Given the description of an element on the screen output the (x, y) to click on. 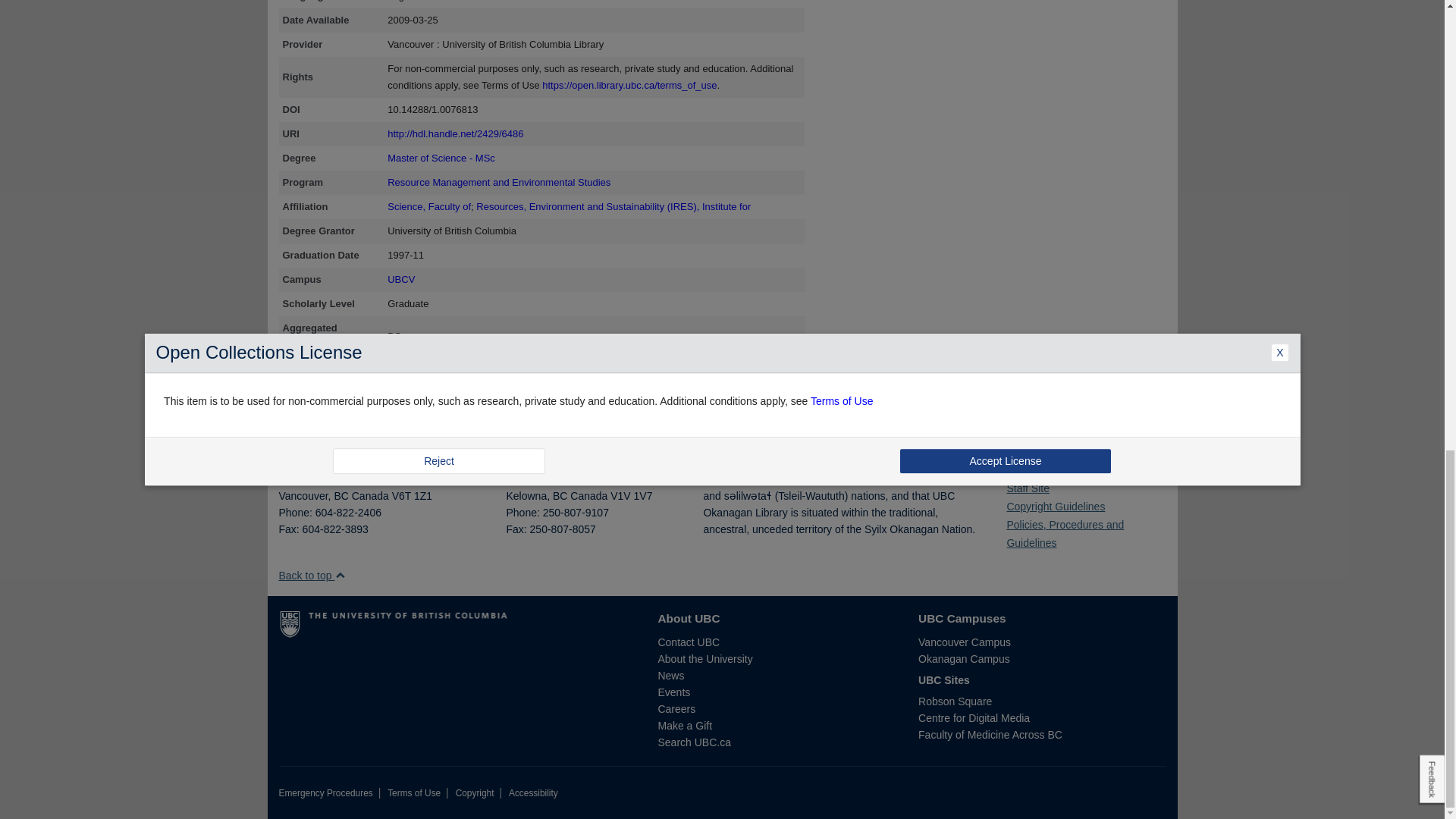
Twitter icon (1021, 466)
British Columbia (340, 495)
Youtube icon (1041, 466)
Facebook icon (1010, 466)
Instagram icon (1031, 466)
British Columbia (560, 495)
